Given the description of an element on the screen output the (x, y) to click on. 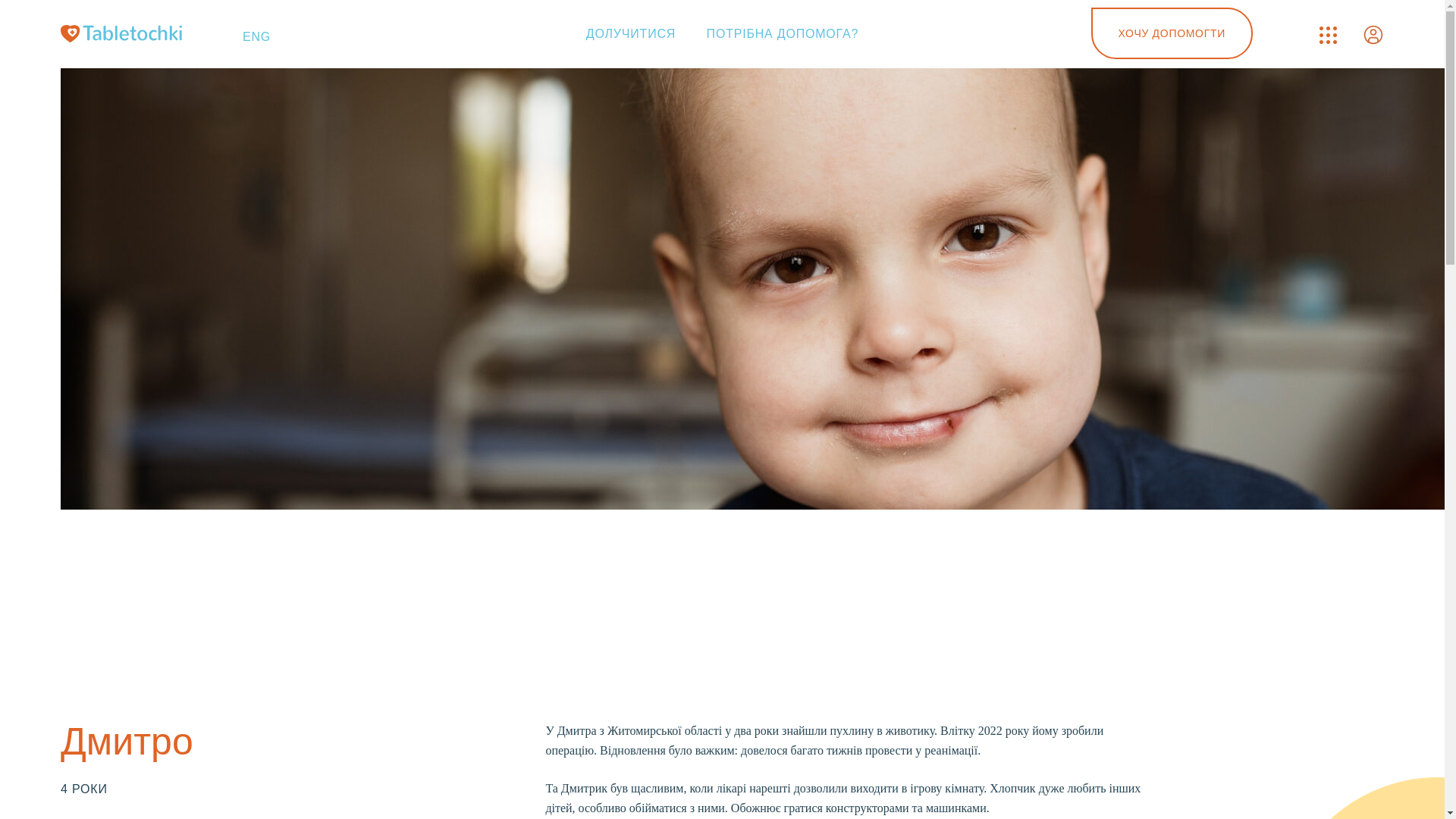
ENG (256, 37)
